Given the description of an element on the screen output the (x, y) to click on. 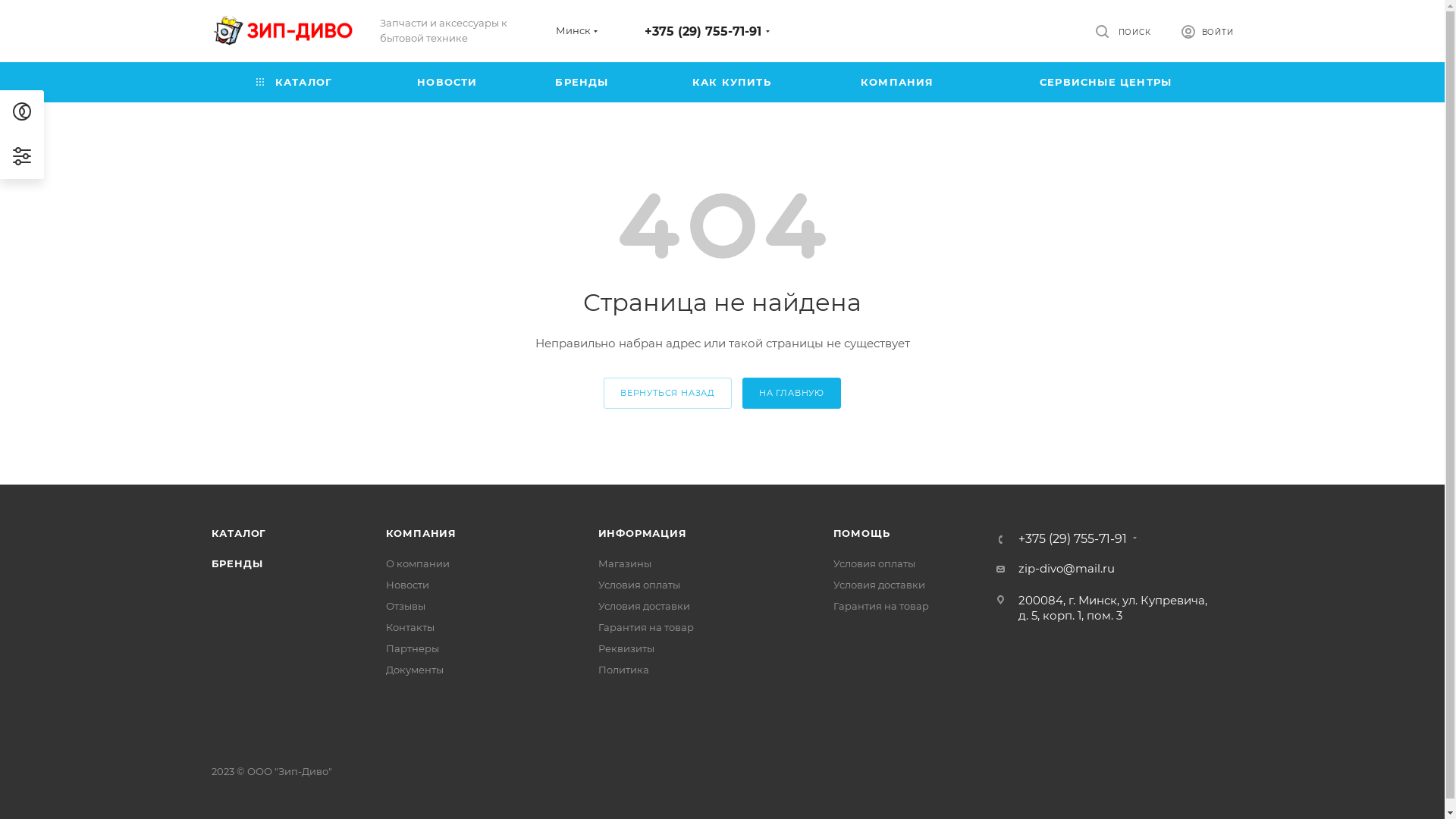
zip-divo@mail.ru Element type: text (1065, 568)
+375 (29) 755-71-91 Element type: text (702, 31)
+375 (29) 755-71-91 Element type: text (1071, 539)
